Given the description of an element on the screen output the (x, y) to click on. 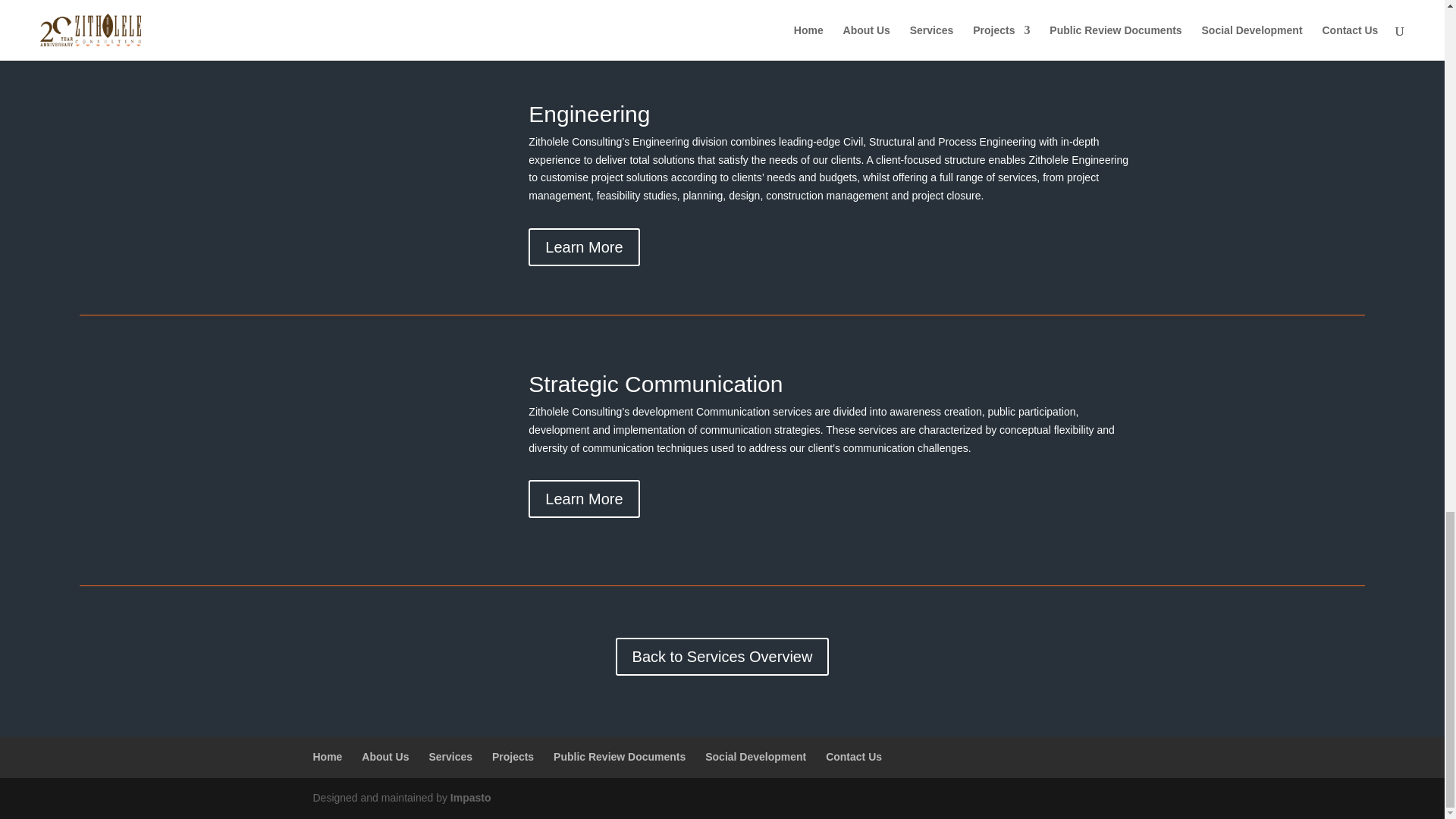
About Us (385, 756)
Learn More (583, 247)
Public Review Documents (619, 756)
Learn More (583, 498)
Impasto (470, 797)
Back to Services Overview (722, 656)
Contact Us (853, 756)
Social Development (755, 756)
Services (449, 756)
Projects (513, 756)
Home (327, 756)
